Given the description of an element on the screen output the (x, y) to click on. 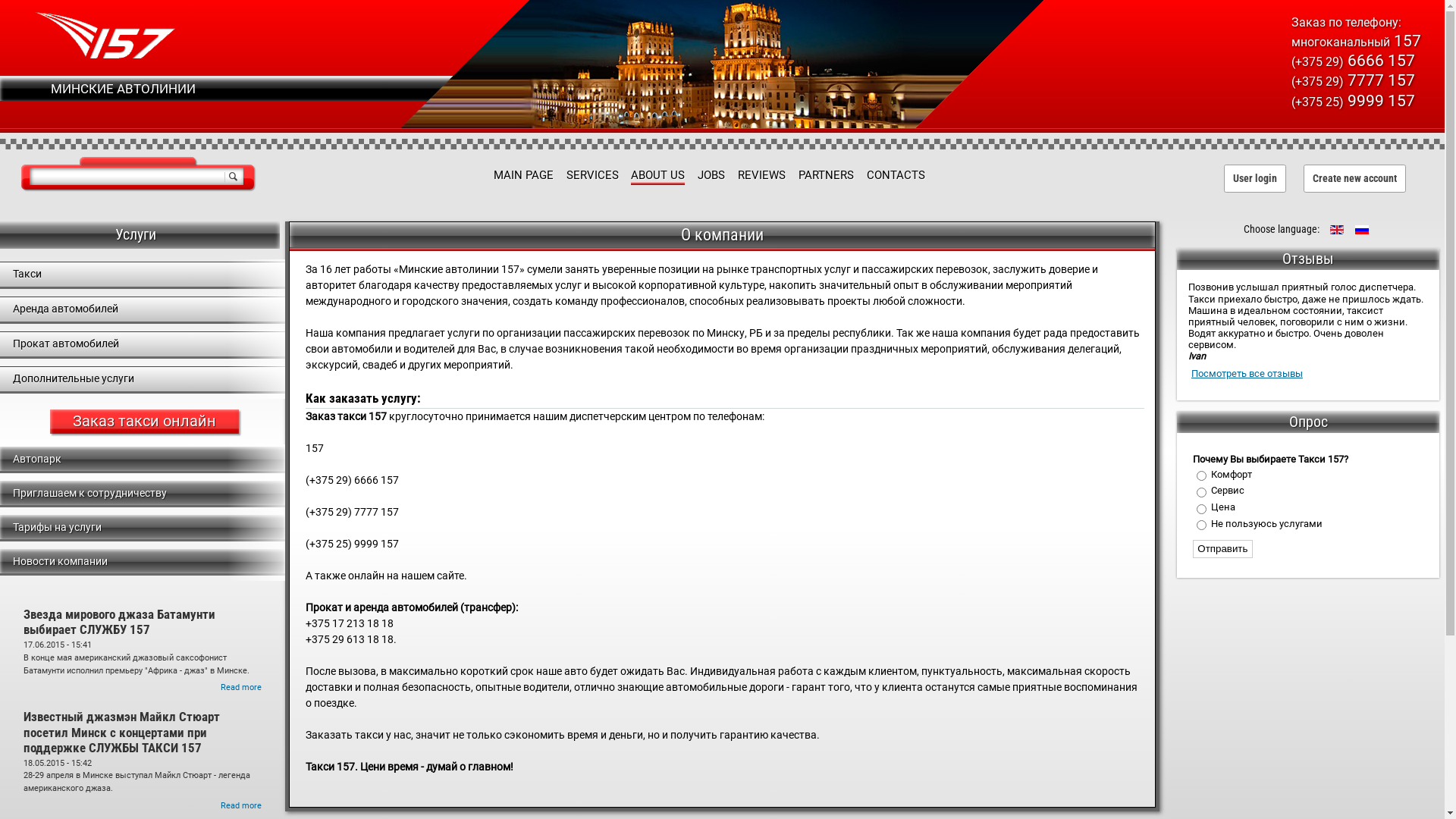
JOBS Element type: text (710, 175)
SERVICES Element type: text (592, 175)
PARTNERS Element type: text (825, 175)
Search Element type: text (233, 177)
ABOUT US Element type: text (657, 175)
MAIN PAGE Element type: text (523, 175)
REVIEWS Element type: text (761, 175)
Home Element type: hover (103, 56)
CONTACTS Element type: text (895, 175)
Enter the terms you wish to search for. Element type: hover (136, 176)
Create new account Element type: text (1354, 178)
English Element type: text (1335, 230)
